Given the description of an element on the screen output the (x, y) to click on. 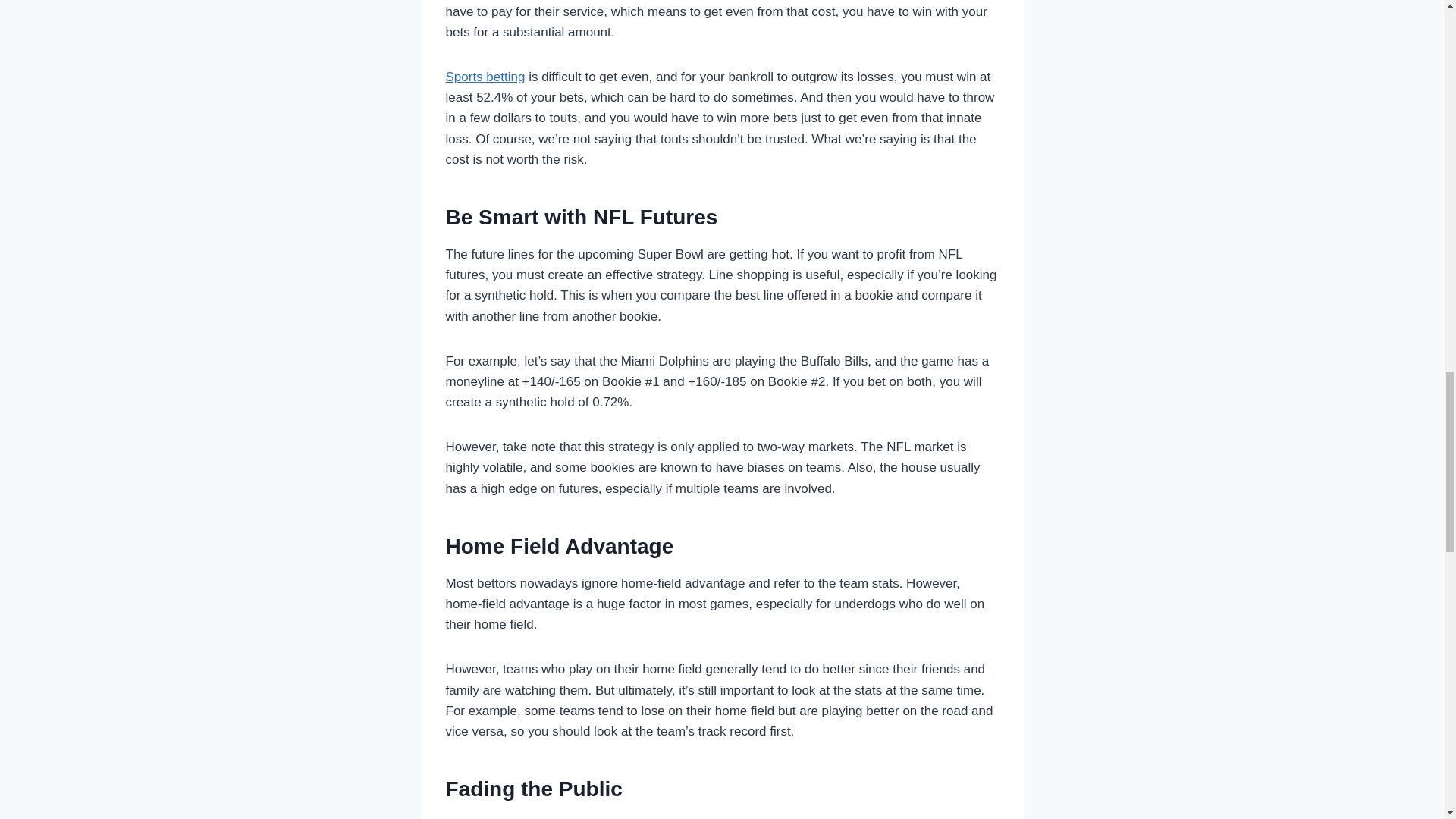
Sports betting (485, 76)
